Given the description of an element on the screen output the (x, y) to click on. 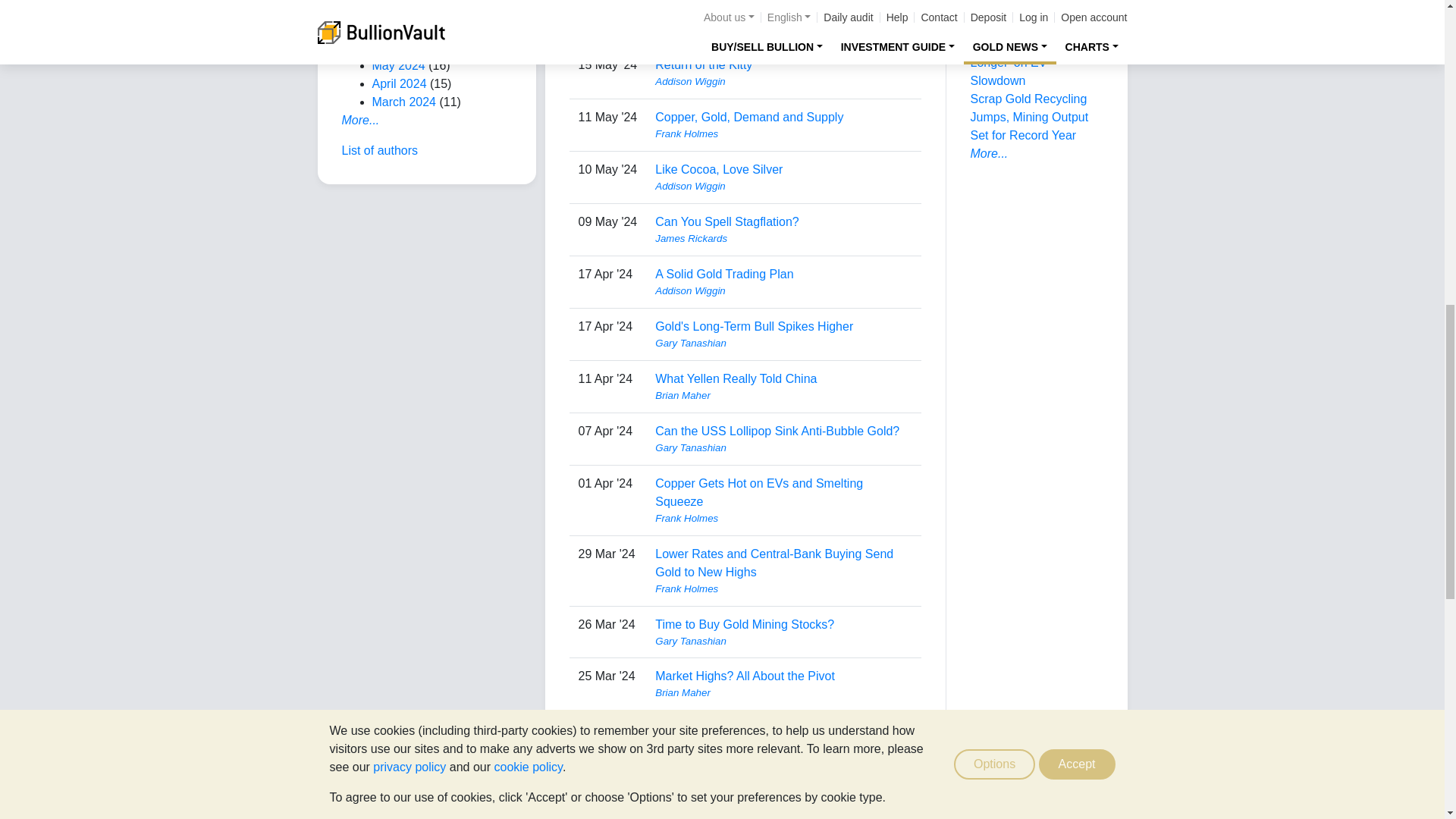
View user profile. (783, 29)
